Given the description of an element on the screen output the (x, y) to click on. 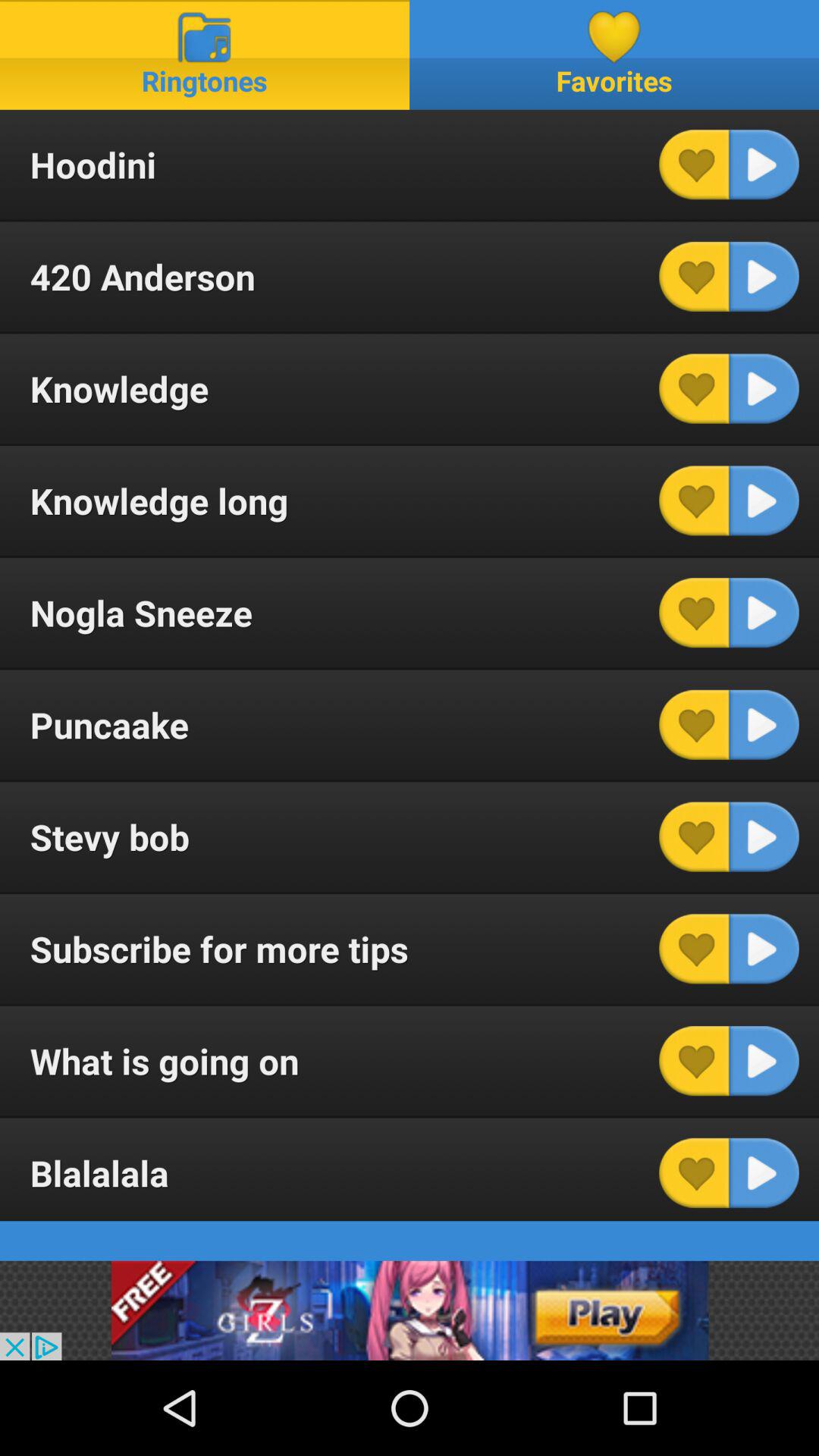
play hoodini (764, 164)
